Given the description of an element on the screen output the (x, y) to click on. 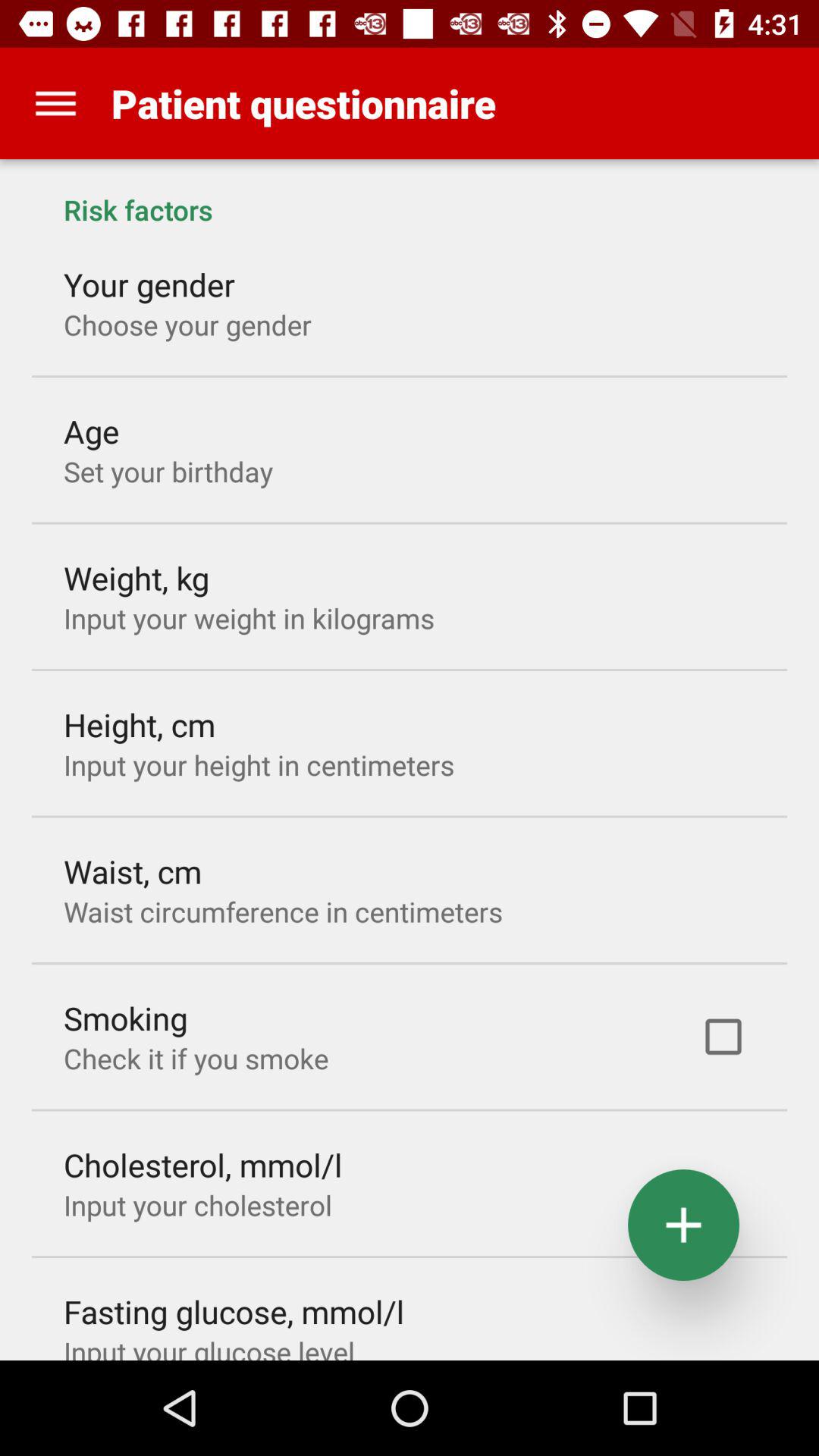
turn off the item above the cholesterol, mmol/l app (195, 1058)
